Given the description of an element on the screen output the (x, y) to click on. 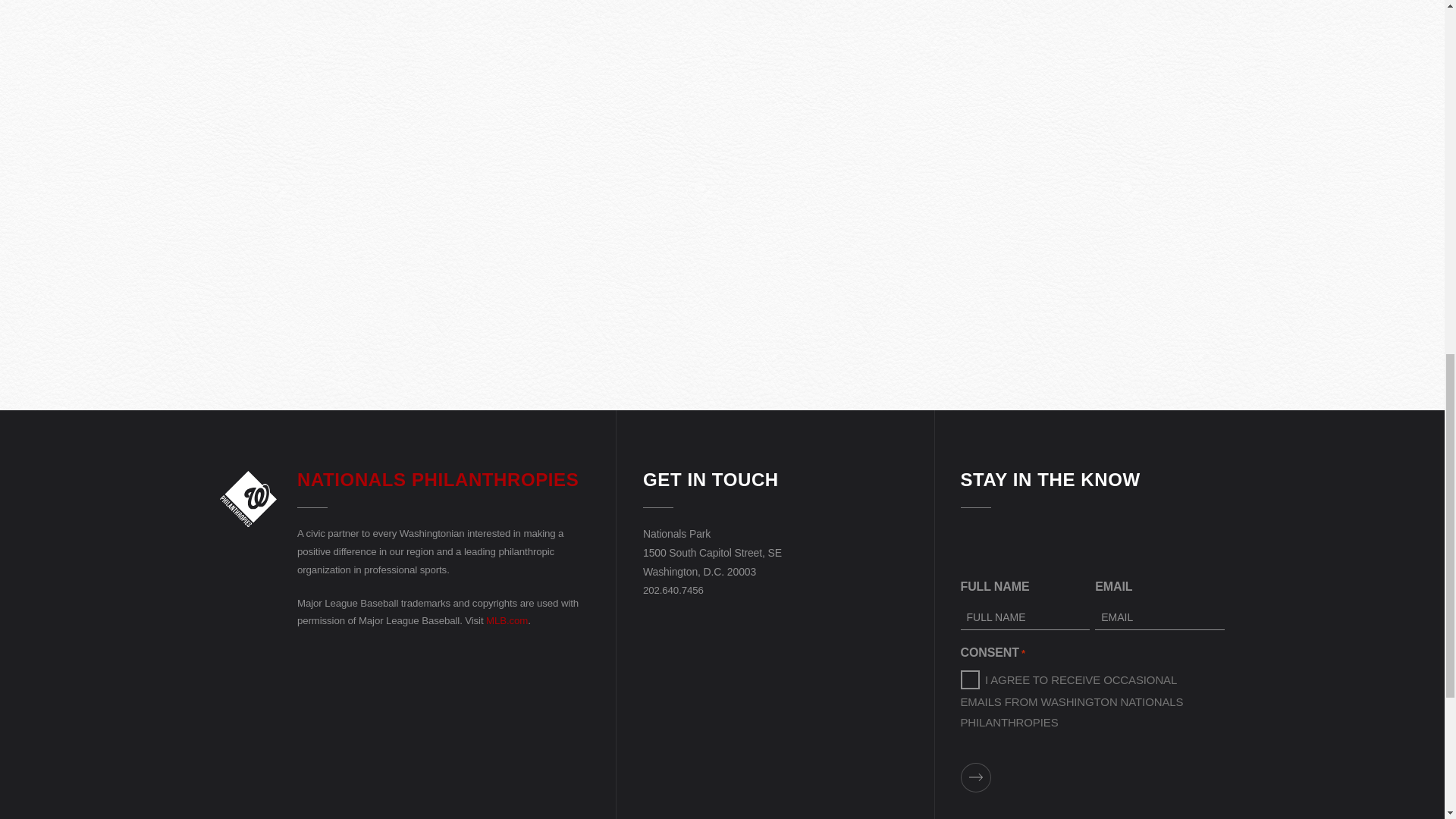
Send Form (974, 777)
NATIONALS PHILANTHROPIES (437, 479)
